Given the description of an element on the screen output the (x, y) to click on. 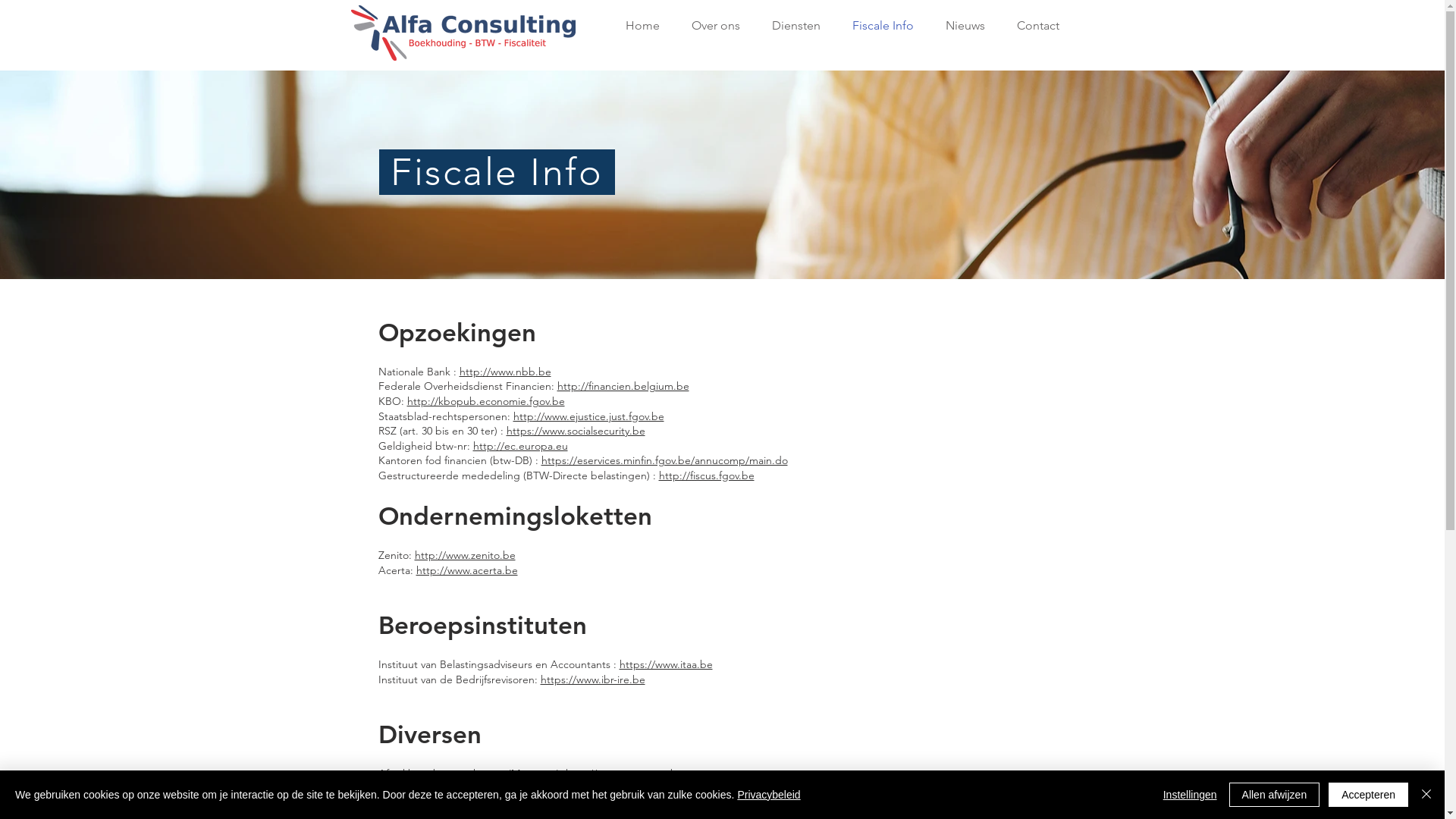
http://www.mesotten.be Element type: text (624, 773)
Privacybeleid Element type: text (768, 794)
Allen afwijzen Element type: text (1274, 794)
Contact Element type: text (1033, 25)
http://www.acerta.be Element type: text (466, 569)
http://www.nbb.be Element type: text (505, 371)
http://ec.europa.eu Element type: text (520, 445)
https://www.socialsecurity.be Element type: text (575, 430)
https://eservices.minfin.fgov.be/annucomp/main.do Element type: text (664, 460)
https://www.itaa.be Element type: text (665, 664)
http://fiscus.fgov.be Element type: text (705, 475)
Accepteren Element type: text (1368, 794)
Diensten Element type: text (790, 25)
https://www.ibr-ire.be Element type: text (591, 679)
Nieuws Element type: text (960, 25)
http://www.ejustice.just.fgov.be Element type: text (587, 416)
Over ons Element type: text (710, 25)
Fiscale Info Element type: text (877, 25)
Home Element type: text (636, 25)
http://www.zenito.be Element type: text (464, 554)
http://www.mesotten.be Element type: text (741, 788)
http://kbopub.economie.fgov.be Element type: text (485, 400)
http://financien.belgium.be Element type: text (622, 385)
alfaconsulting logo.png Element type: hover (462, 32)
